Given the description of an element on the screen output the (x, y) to click on. 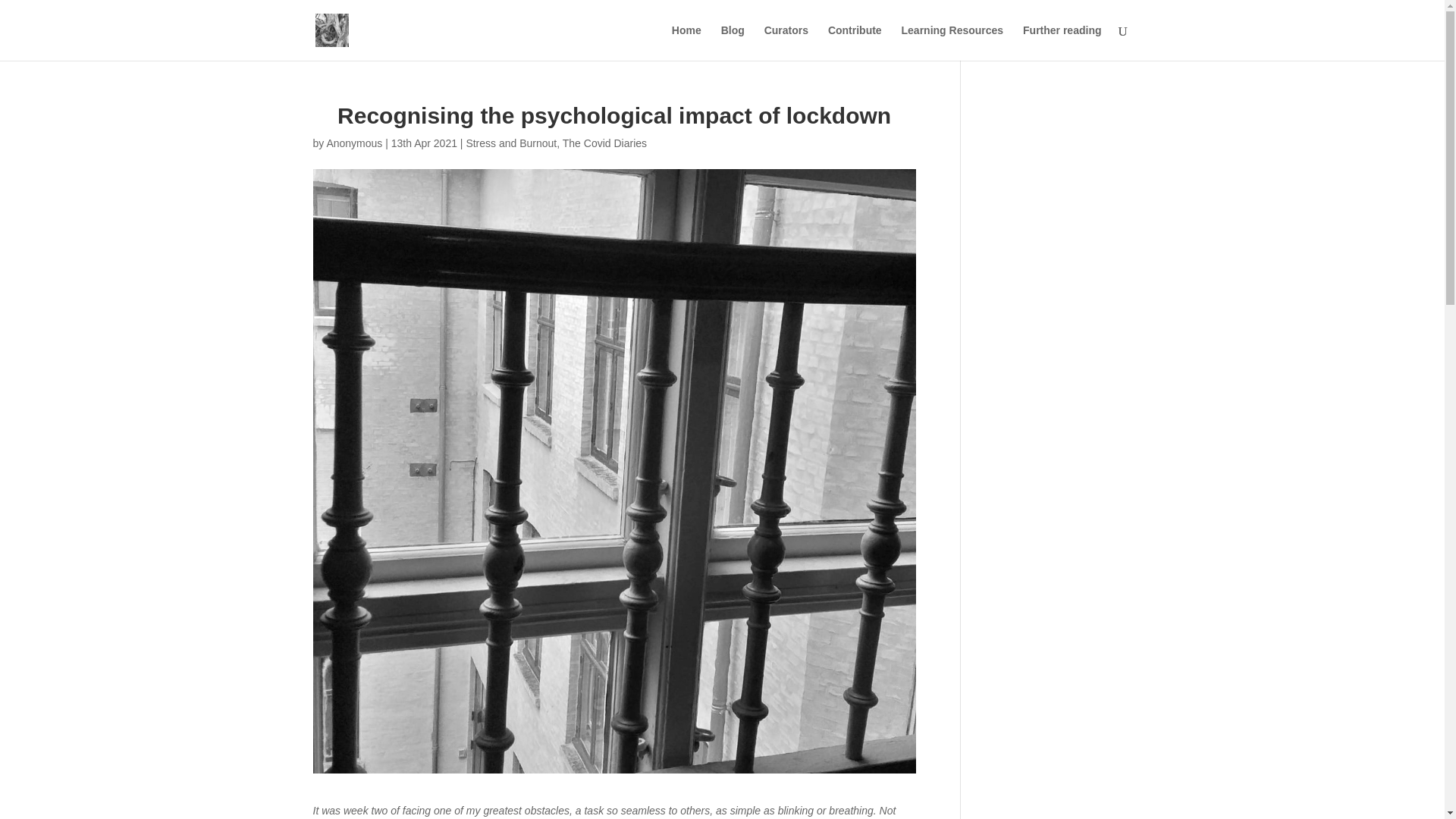
Further reading (1061, 42)
Posts by Anonymous (353, 143)
Curators (786, 42)
Stress and Burnout (510, 143)
The Covid Diaries (604, 143)
Learning Resources (952, 42)
Anonymous (353, 143)
Contribute (855, 42)
